Given the description of an element on the screen output the (x, y) to click on. 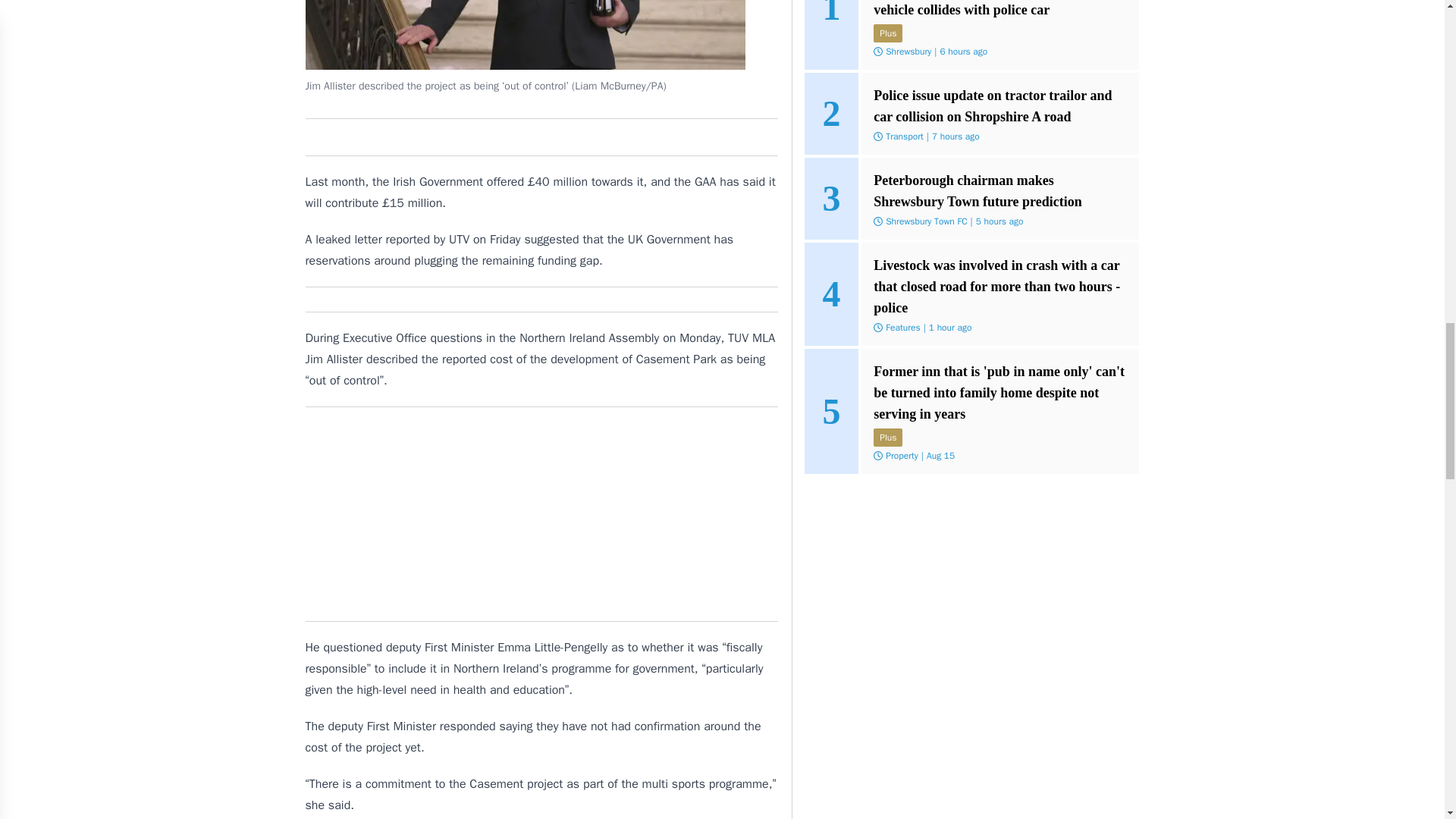
3rd party ad content (541, 514)
Shrewsbury Town FC (925, 221)
Property (901, 455)
Transport (904, 136)
Shrewsbury (908, 51)
Features (902, 327)
